Given the description of an element on the screen output the (x, y) to click on. 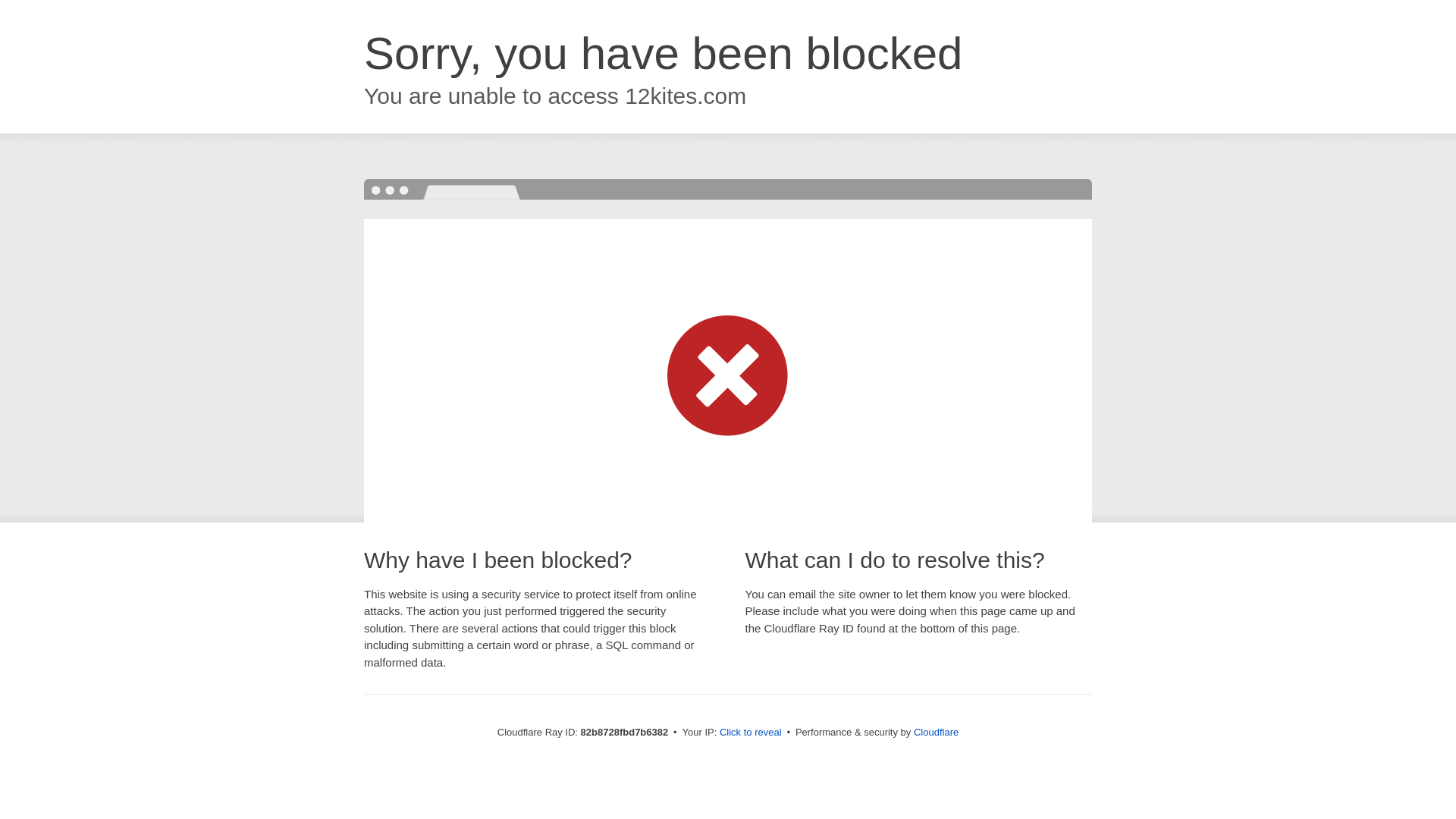
Cloudflare Element type: text (935, 731)
Click to reveal Element type: text (750, 732)
